Given the description of an element on the screen output the (x, y) to click on. 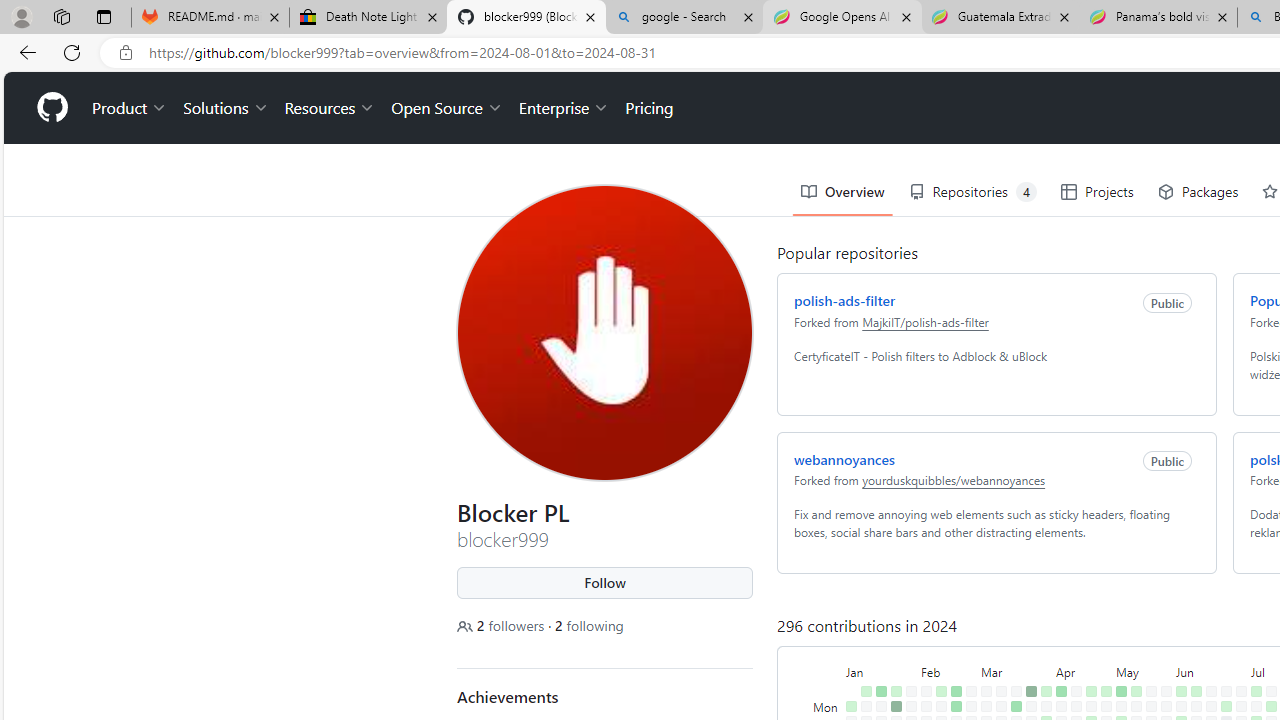
View site information (125, 53)
Google Opens AI Academy for Startups - Nearshore Americas (842, 17)
Analysis (1078, 121)
